Given the description of an element on the screen output the (x, y) to click on. 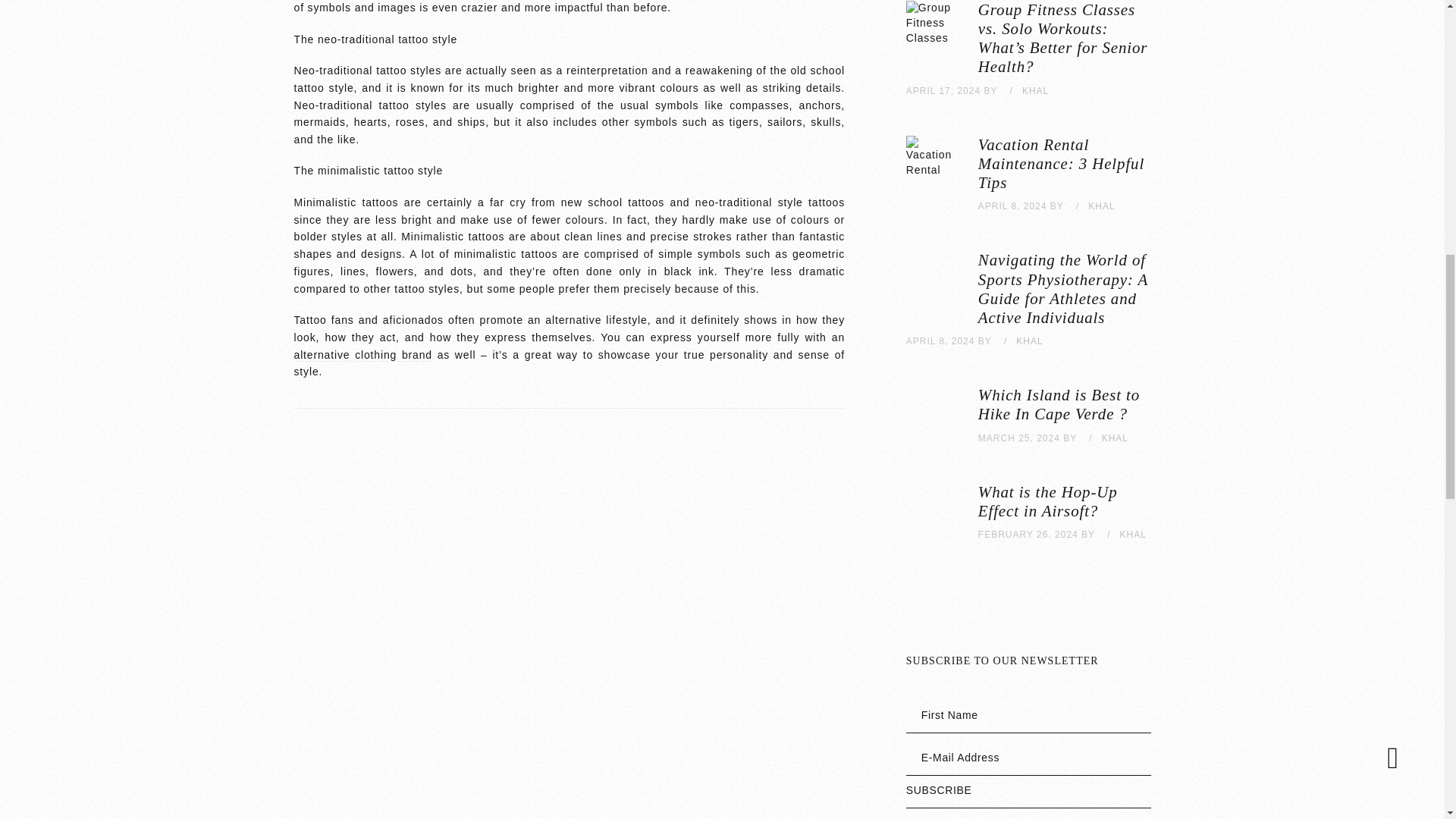
alternative clothing brand (363, 354)
Subscribe (1028, 795)
KHAL (1029, 340)
Which Island is Best to Hike In Cape Verde ? (1059, 404)
Vacation Rental Maintenance: 3 Helpful Tips (1061, 163)
KHAL (1133, 534)
KHAL (1101, 205)
KHAL (1035, 90)
Subscribe (1028, 795)
